Given the description of an element on the screen output the (x, y) to click on. 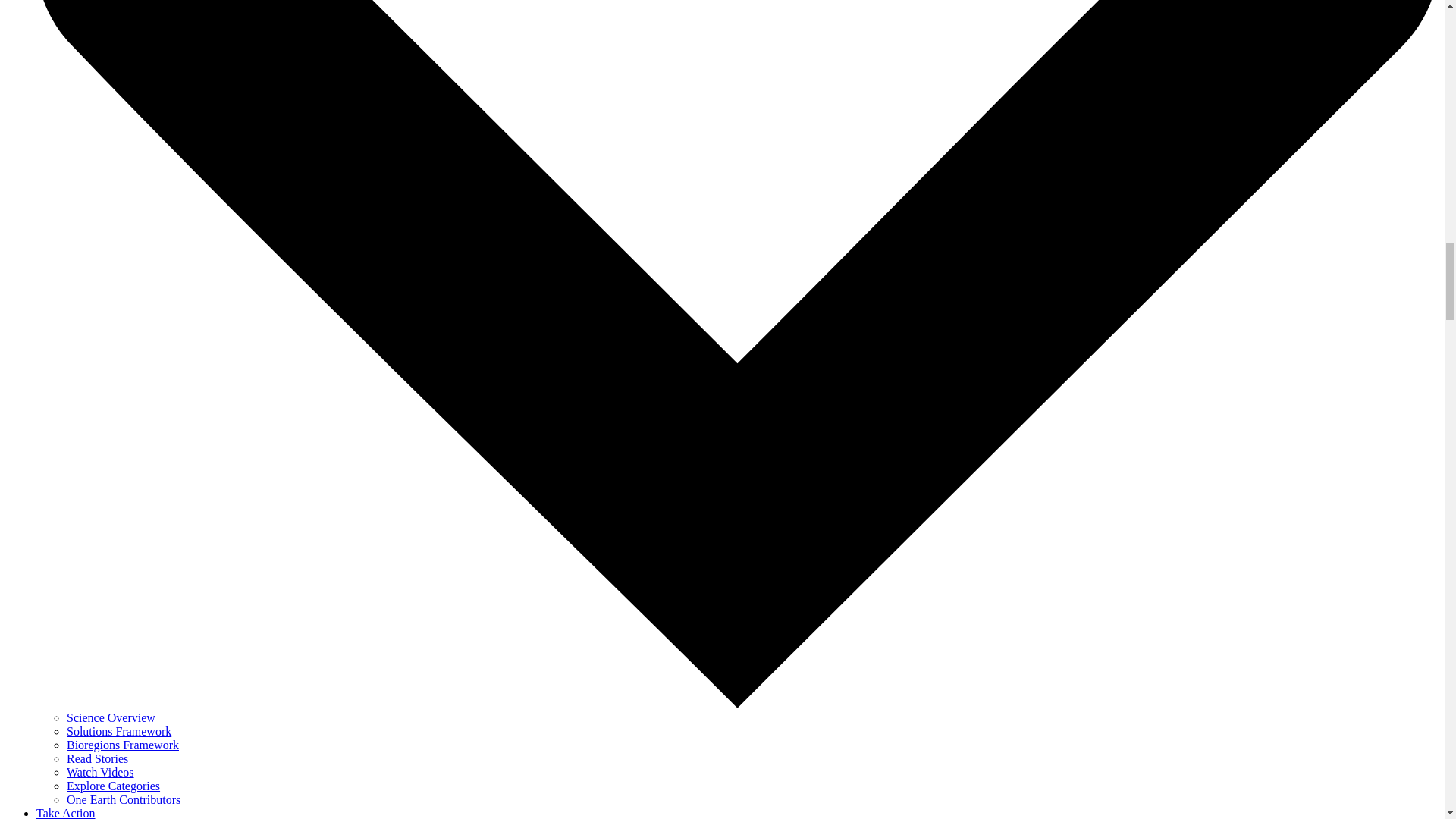
Bioregions Framework (122, 744)
Watch Videos (99, 771)
Explore Categories (113, 785)
Read Stories (97, 758)
One Earth Contributors (123, 799)
Science Overview (110, 717)
Solutions Framework (118, 730)
